Given the description of an element on the screen output the (x, y) to click on. 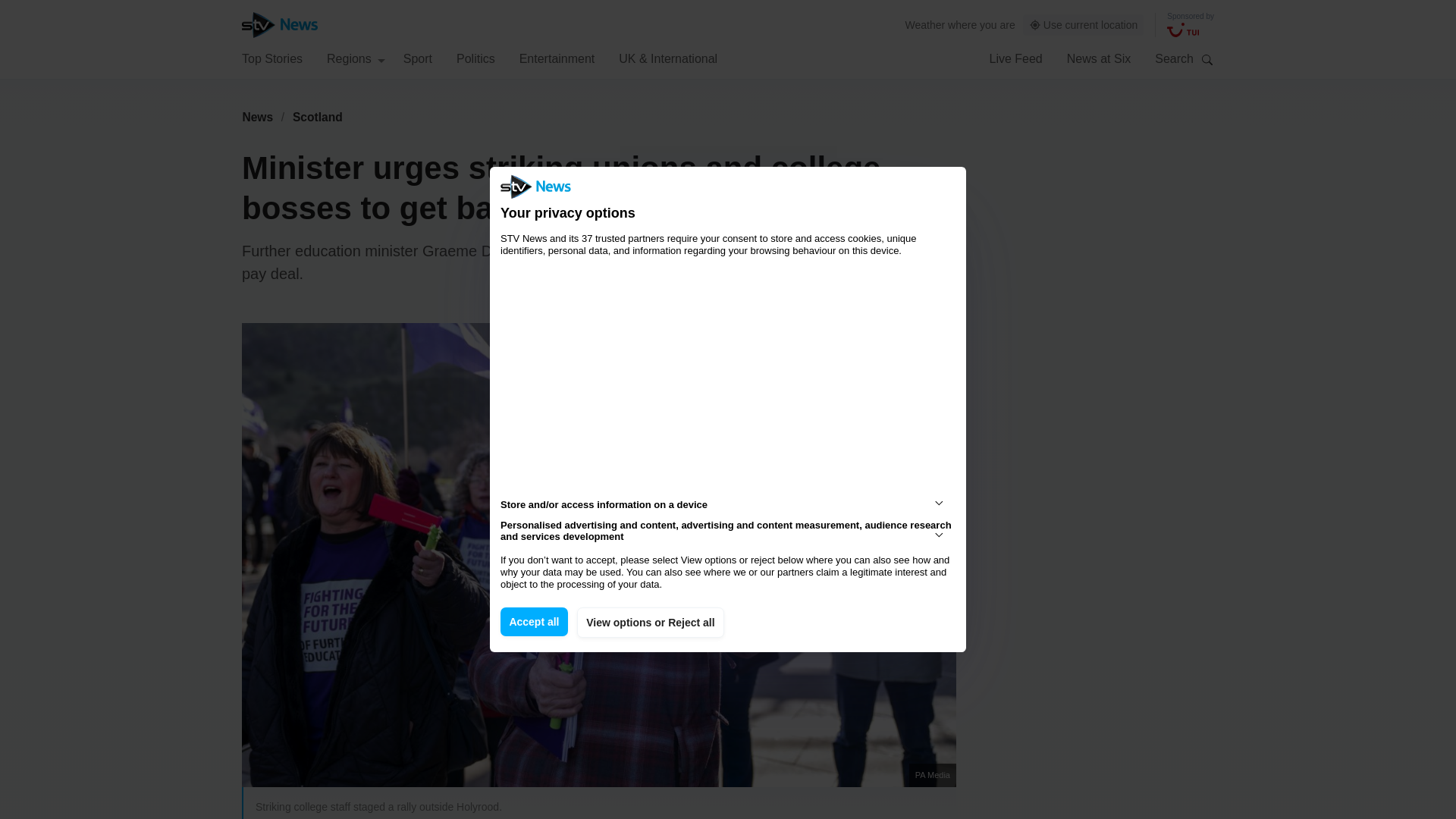
Entertainment (557, 57)
Search (1206, 59)
News (257, 116)
Weather (924, 24)
Scotland (317, 116)
Top Stories (271, 57)
Use current location (1083, 25)
Regions (355, 57)
News at Six (1099, 57)
Politics (476, 57)
